Given the description of an element on the screen output the (x, y) to click on. 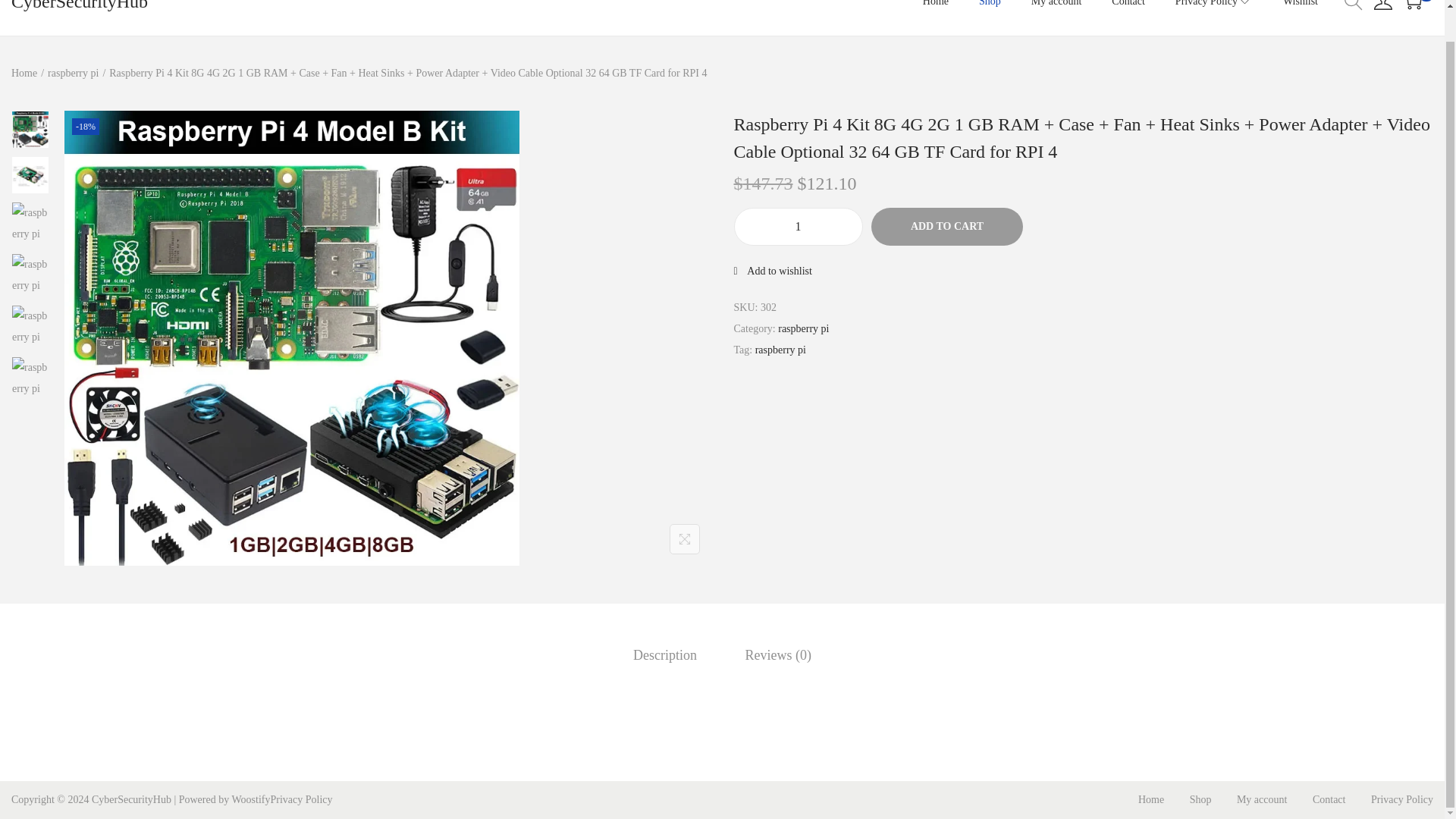
raspberry pi (73, 72)
Add to wishlist (772, 270)
My account (1055, 18)
raspberry pi (802, 328)
Woostify (250, 799)
ADD TO CART (946, 226)
Contact (1128, 18)
Home (24, 72)
Wishlist (1299, 18)
Description (665, 654)
CyberSecurityHub (79, 5)
raspberry pi (780, 349)
Privacy Policy (1213, 18)
1 (797, 226)
Privacy Policy (300, 799)
